Given the description of an element on the screen output the (x, y) to click on. 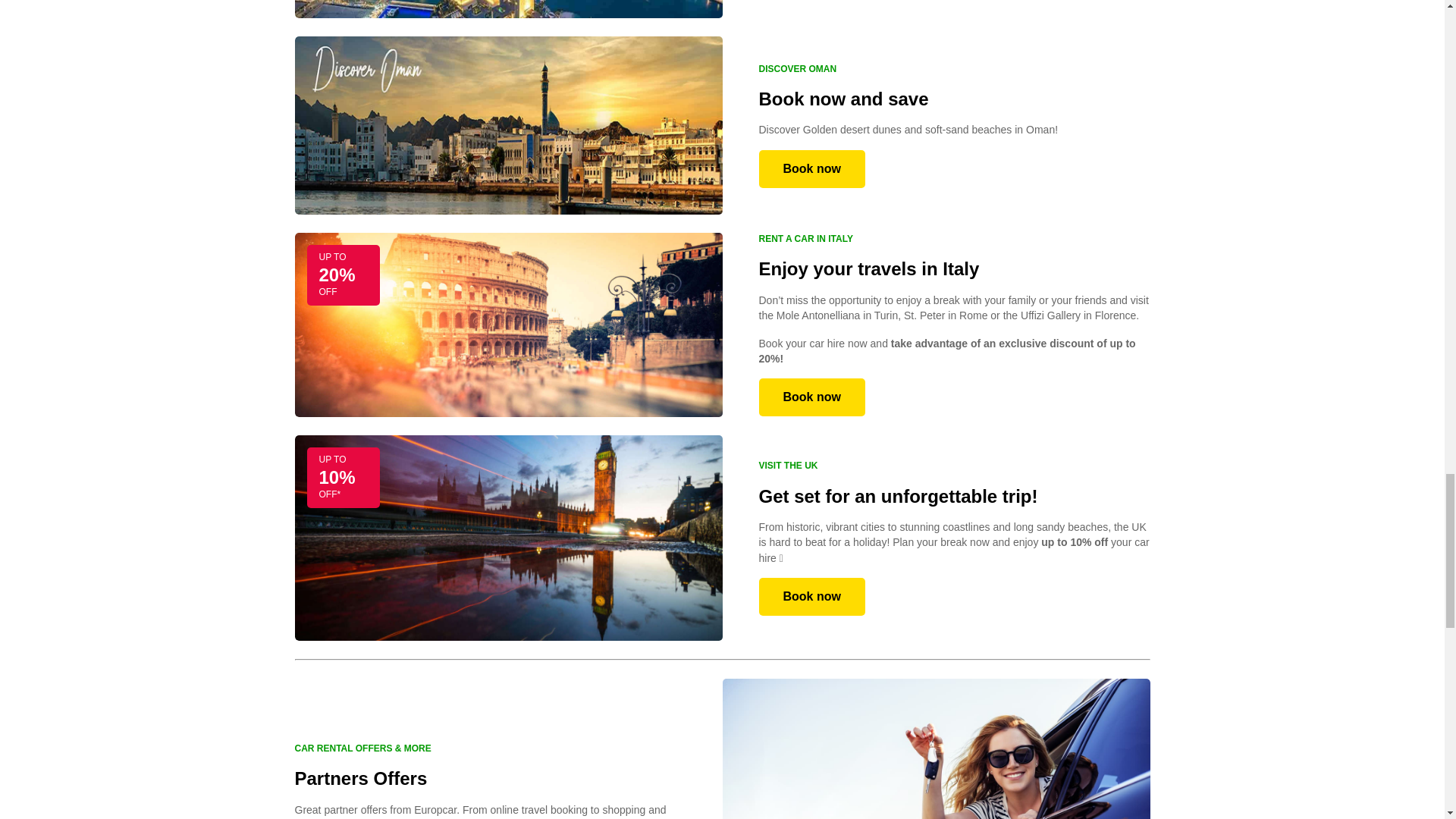
Book now (811, 596)
Book now (811, 397)
Book now (811, 168)
